Given the description of an element on the screen output the (x, y) to click on. 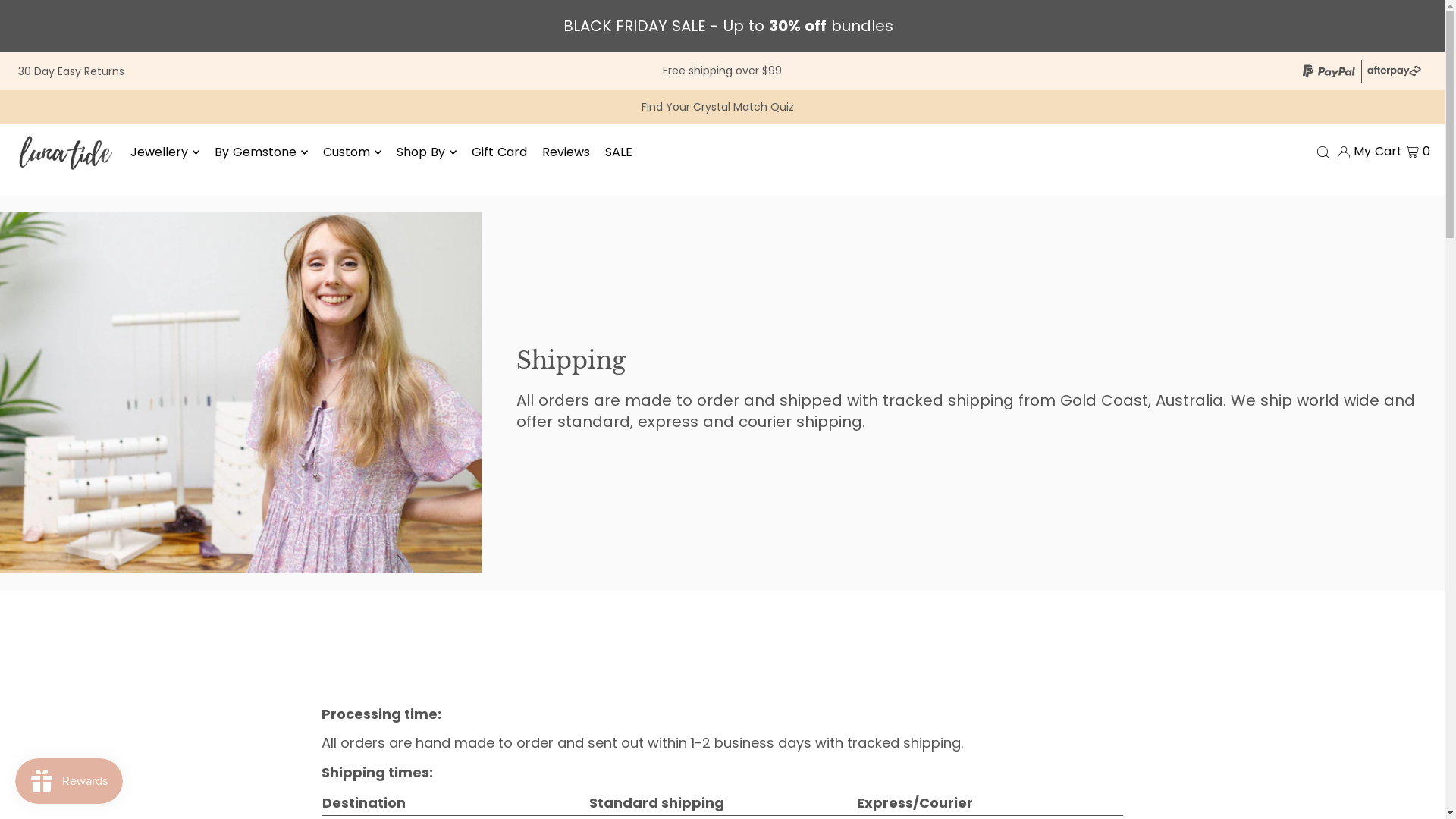
Shop By Element type: text (426, 152)
By Gemstone Element type: text (260, 152)
Jewellery Element type: text (164, 152)
SALE Element type: text (618, 152)
30 Day Easy Returns Element type: text (71, 70)
Reviews Element type: text (565, 152)
Custom Element type: text (352, 152)
Smile.io Rewards Program Launcher Element type: hover (68, 780)
Gift Card Element type: text (499, 152)
